Given the description of an element on the screen output the (x, y) to click on. 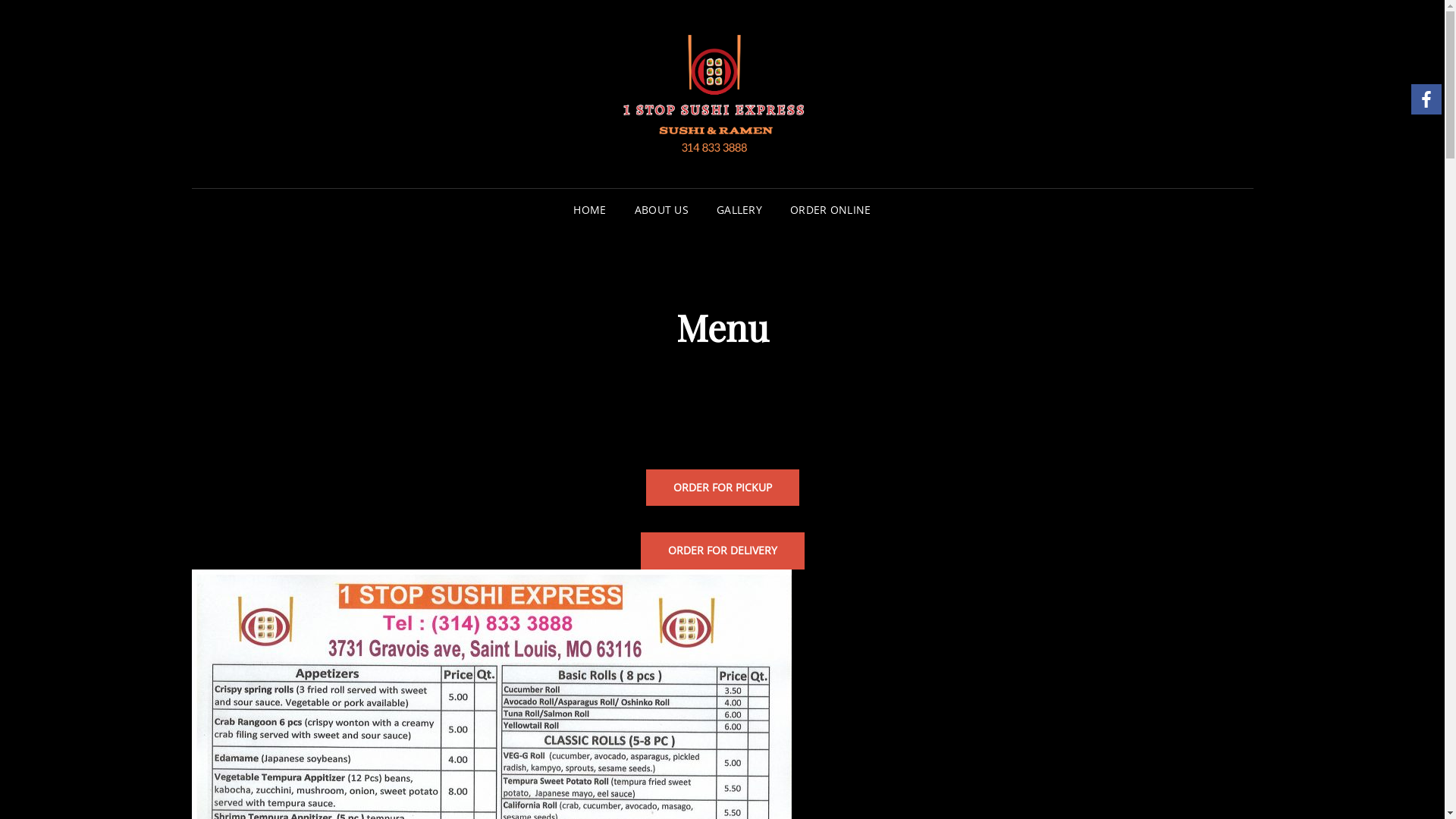
ORDER FOR PICKUP Element type: text (722, 487)
Facebook Element type: hover (1426, 99)
GALLERY Element type: text (739, 209)
Hide Element type: hover (1438, 128)
1 STOP SUSHI EXPRESS Element type: text (1074, 116)
HOME Element type: text (589, 209)
ABOUT US Element type: text (661, 209)
ORDER ONLINE Element type: text (830, 209)
ORDER FOR DELIVERY Element type: text (721, 550)
